Given the description of an element on the screen output the (x, y) to click on. 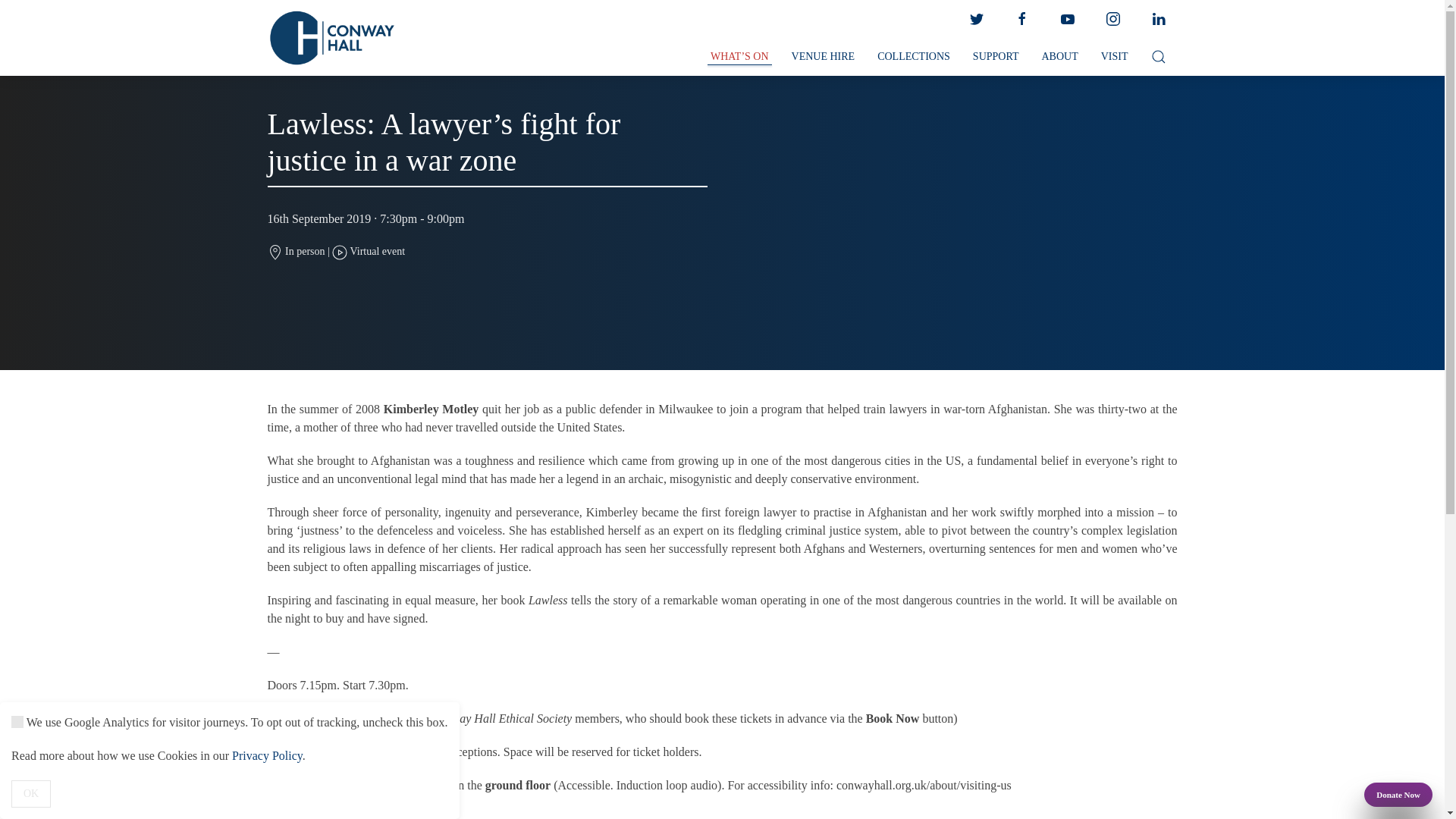
VISIT (1114, 56)
Donate Now (1398, 794)
COLLECTIONS (913, 56)
VENUE HIRE (823, 56)
OK (30, 793)
Twitter (975, 19)
on (17, 721)
ABOUT (1059, 56)
Facebook (1022, 19)
LinkedIn (1157, 19)
